Given the description of an element on the screen output the (x, y) to click on. 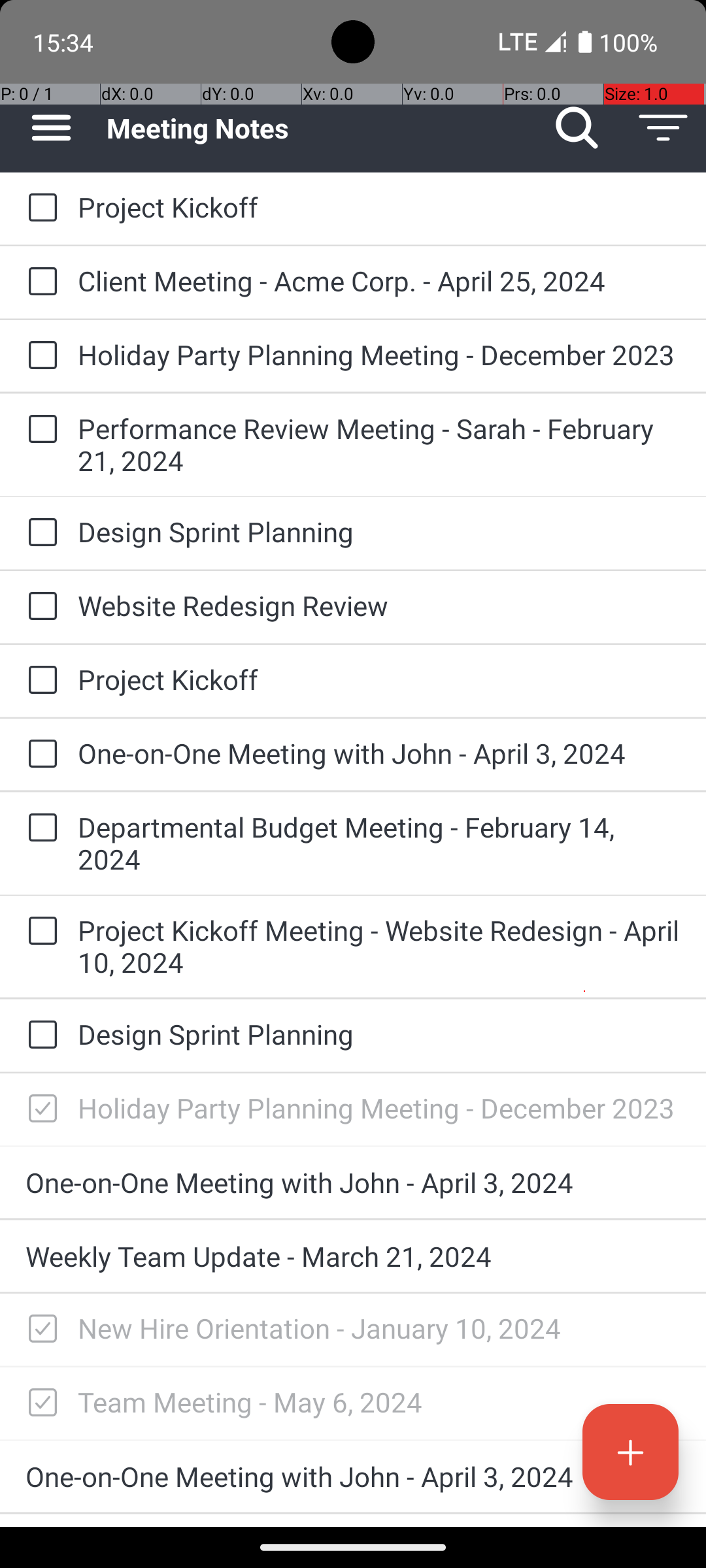
to-do: Project Kickoff Element type: android.widget.CheckBox (38, 208)
Project Kickoff Element type: android.widget.TextView (378, 206)
to-do: Client Meeting - Acme Corp. - April 25, 2024 Element type: android.widget.CheckBox (38, 282)
Client Meeting - Acme Corp. - April 25, 2024 Element type: android.widget.TextView (378, 280)
to-do: Holiday Party Planning Meeting - December 2023 Element type: android.widget.CheckBox (38, 356)
Holiday Party Planning Meeting - December 2023 Element type: android.widget.TextView (378, 354)
to-do: Performance Review Meeting - Sarah - February 21, 2024 Element type: android.widget.CheckBox (38, 429)
Performance Review Meeting - Sarah - February 21, 2024 Element type: android.widget.TextView (378, 443)
to-do: Design Sprint Planning Element type: android.widget.CheckBox (38, 533)
Design Sprint Planning Element type: android.widget.TextView (378, 531)
to-do: Website Redesign Review Element type: android.widget.CheckBox (38, 606)
Website Redesign Review Element type: android.widget.TextView (378, 604)
to-do: One-on-One Meeting with John - April 3, 2024 Element type: android.widget.CheckBox (38, 754)
One-on-One Meeting with John - April 3, 2024 Element type: android.widget.TextView (378, 752)
to-do: Departmental Budget Meeting - February 14, 2024 Element type: android.widget.CheckBox (38, 828)
Departmental Budget Meeting - February 14, 2024 Element type: android.widget.TextView (378, 842)
to-do: Project Kickoff Meeting - Website Redesign - April 10, 2024 Element type: android.widget.CheckBox (38, 931)
Project Kickoff Meeting - Website Redesign - April 10, 2024 Element type: android.widget.TextView (378, 945)
Weekly Team Update - March 21, 2024 Element type: android.widget.TextView (352, 1255)
to-do: New Hire Orientation - January 10, 2024 Element type: android.widget.CheckBox (38, 1329)
New Hire Orientation - January 10, 2024 Element type: android.widget.TextView (378, 1327)
to-do: Team Meeting - May 6, 2024 Element type: android.widget.CheckBox (38, 1403)
Team Meeting - May 6, 2024 Element type: android.widget.TextView (378, 1401)
